Given the description of an element on the screen output the (x, y) to click on. 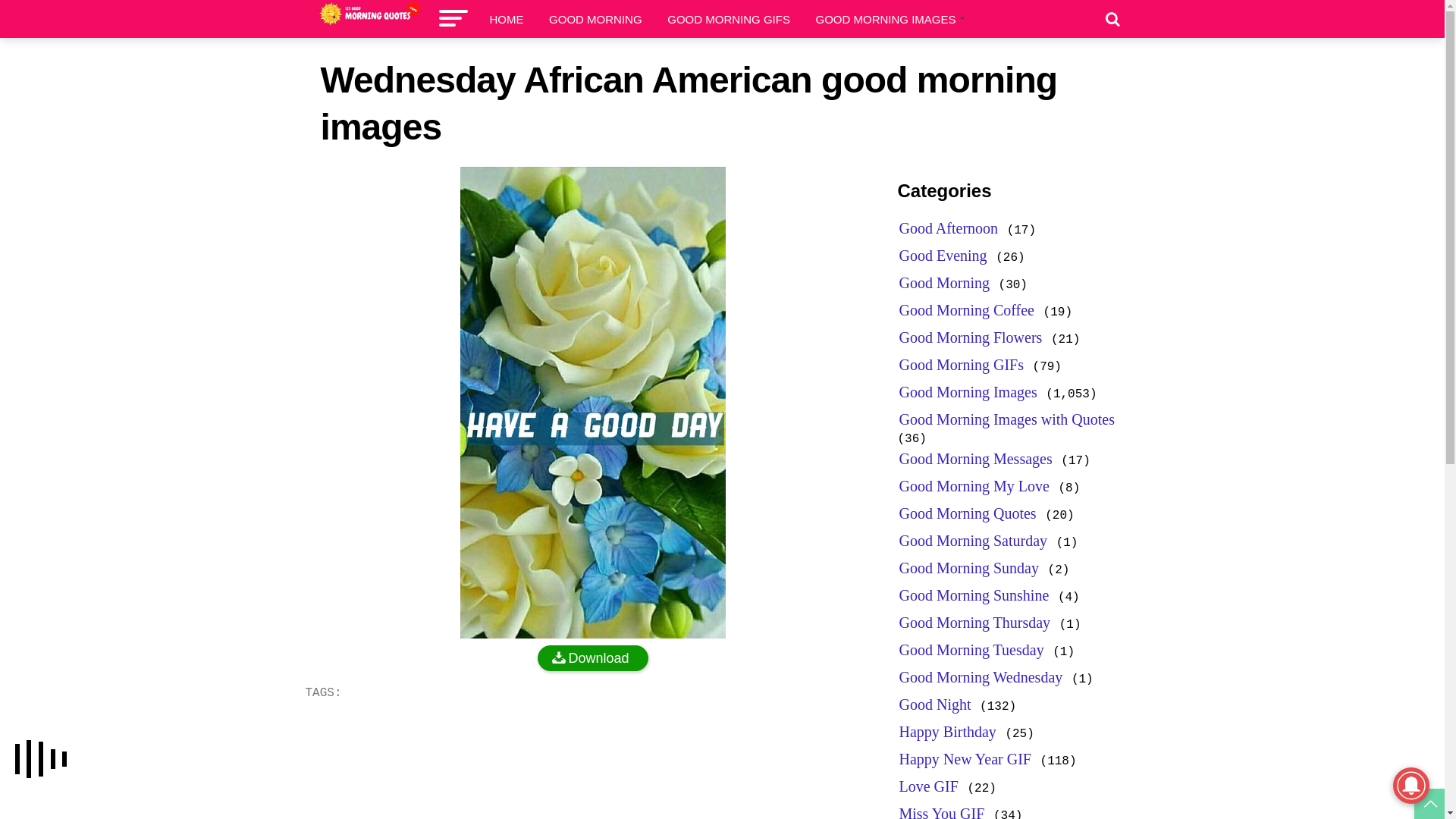
Good Morning Tuesday Element type: text (971, 649)
HOME Element type: text (506, 19)
Good Morning Flowers Element type: text (970, 337)
Good Morning GIFs Element type: text (961, 364)
Good Afternoon Element type: text (948, 228)
Good Morning Sunshine Element type: text (974, 595)
Good Morning Quotes Element type: text (967, 513)
Good Morning My Love Element type: text (974, 486)
Love GIF Element type: text (928, 786)
Good Morning Messages Element type: text (975, 458)
Good Morning Coffee Element type: text (967, 310)
Good Night Element type: text (935, 704)
GOOD MORNING IMAGES Element type: text (887, 19)
GOOD MORNING Element type: text (595, 19)
Good Morning Images with Quotes Element type: text (1006, 419)
Good Morning Element type: text (944, 282)
Happy New Year GIF Element type: text (965, 759)
Good Morning Images Element type: text (968, 391)
Good Evening Element type: text (943, 255)
Good Morning Saturday Element type: text (973, 540)
Good Morning Sunday Element type: text (968, 567)
GOOD MORNING GIFS Element type: text (728, 19)
Happy Birthday Element type: text (947, 731)
Good Morning Wednesday Element type: text (981, 677)
Good Morning Thursday Element type: text (975, 622)
Download Element type: text (592, 658)
